Given the description of an element on the screen output the (x, y) to click on. 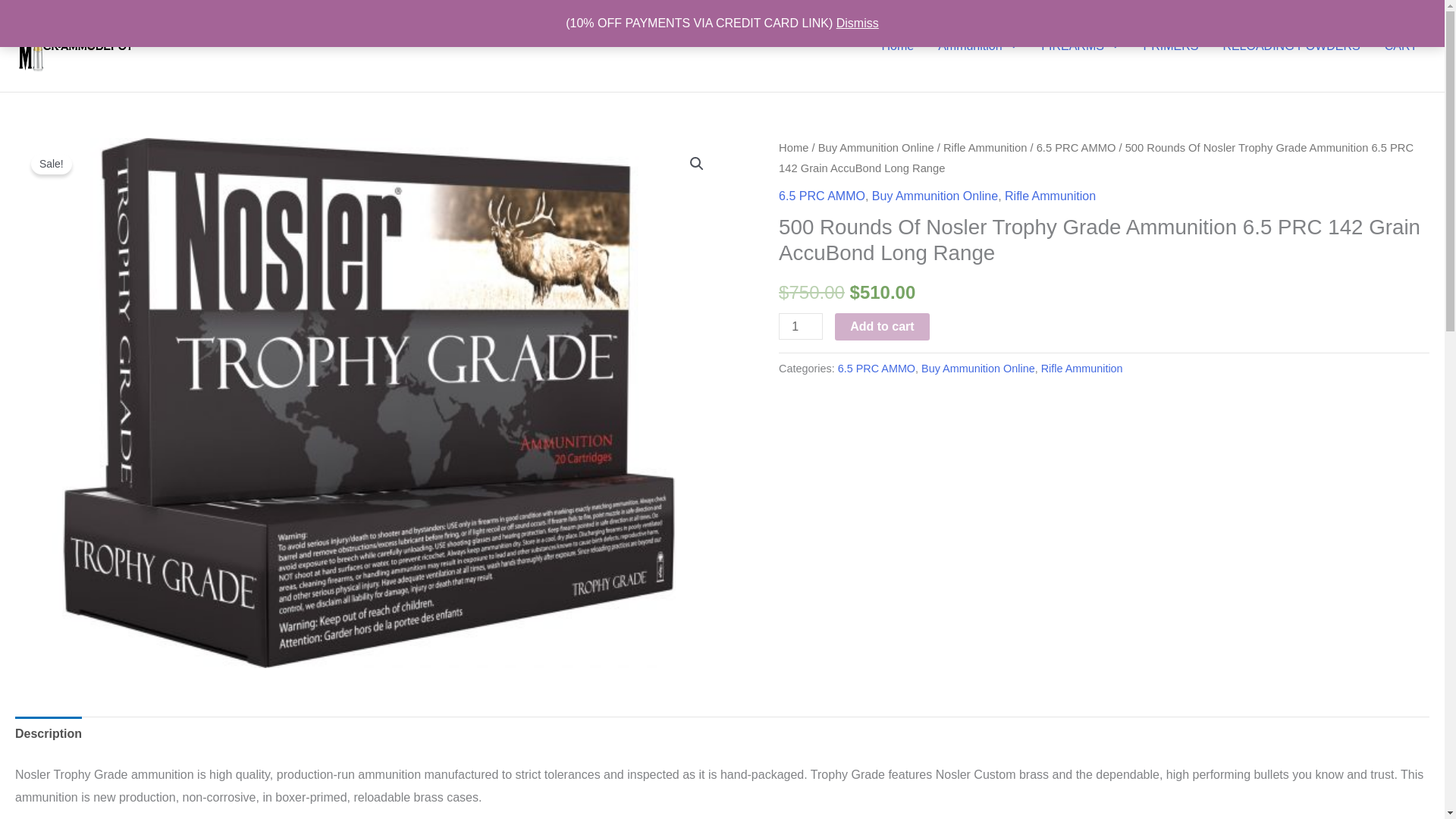
Home (897, 45)
1 (800, 325)
Ammunition (977, 45)
